Given the description of an element on the screen output the (x, y) to click on. 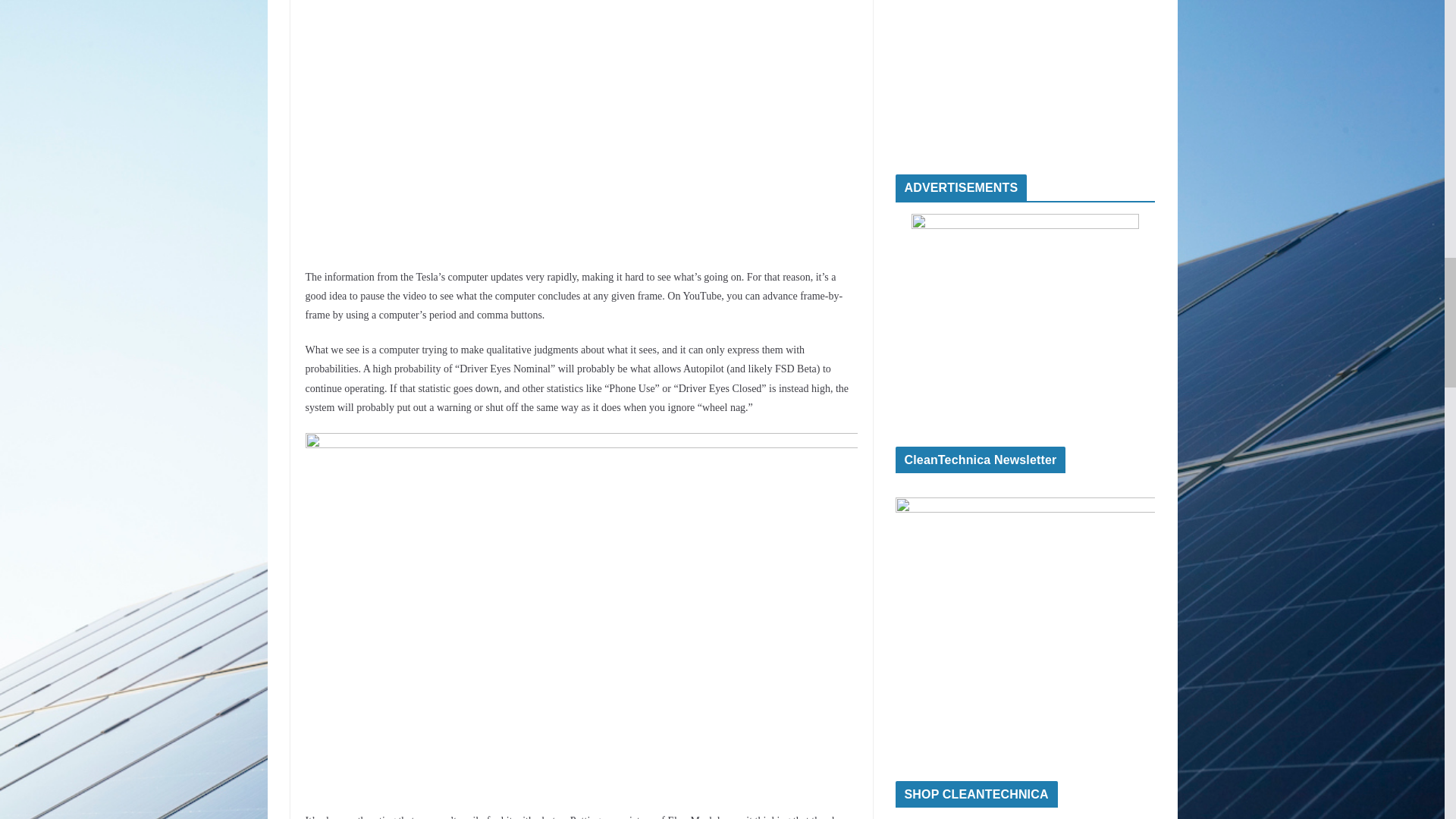
Tesla hacker hard at work (580, 120)
